Given the description of an element on the screen output the (x, y) to click on. 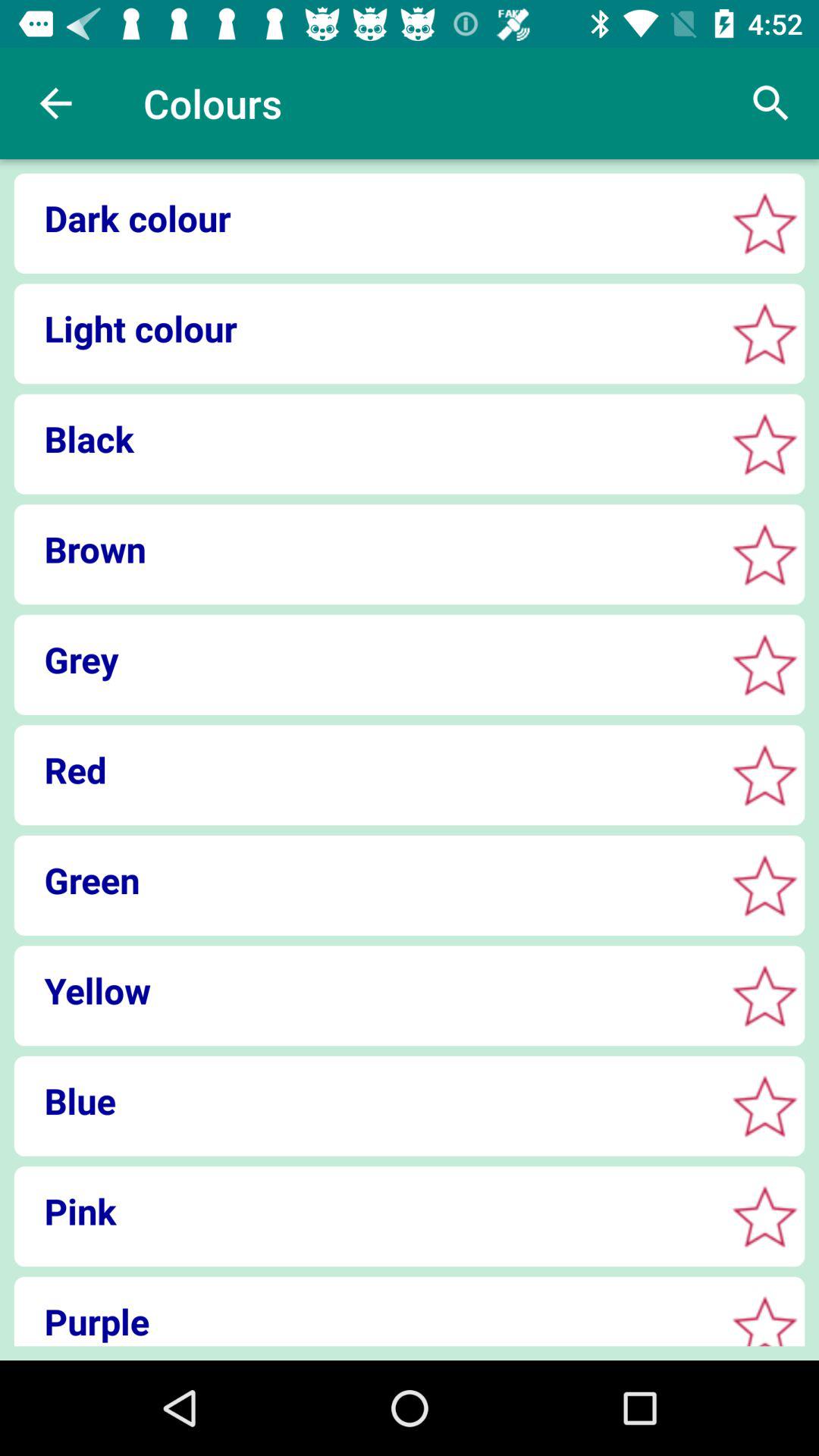
click to favorite (764, 1216)
